Given the description of an element on the screen output the (x, y) to click on. 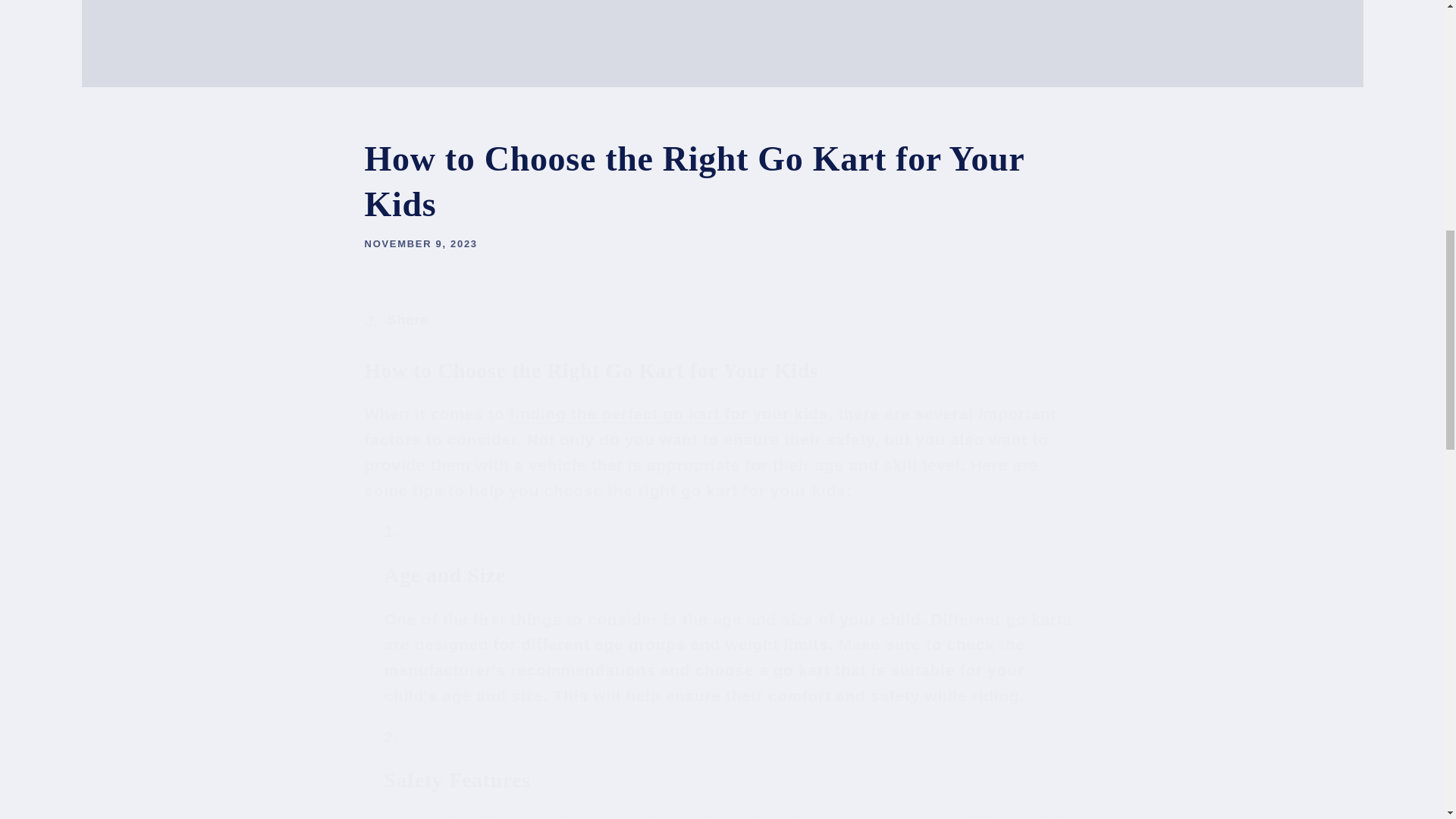
Share (722, 320)
110cc Double Seat go karts for kids near me (918, 816)
gas powered go karts for kids with free shipping (668, 413)
